Given the description of an element on the screen output the (x, y) to click on. 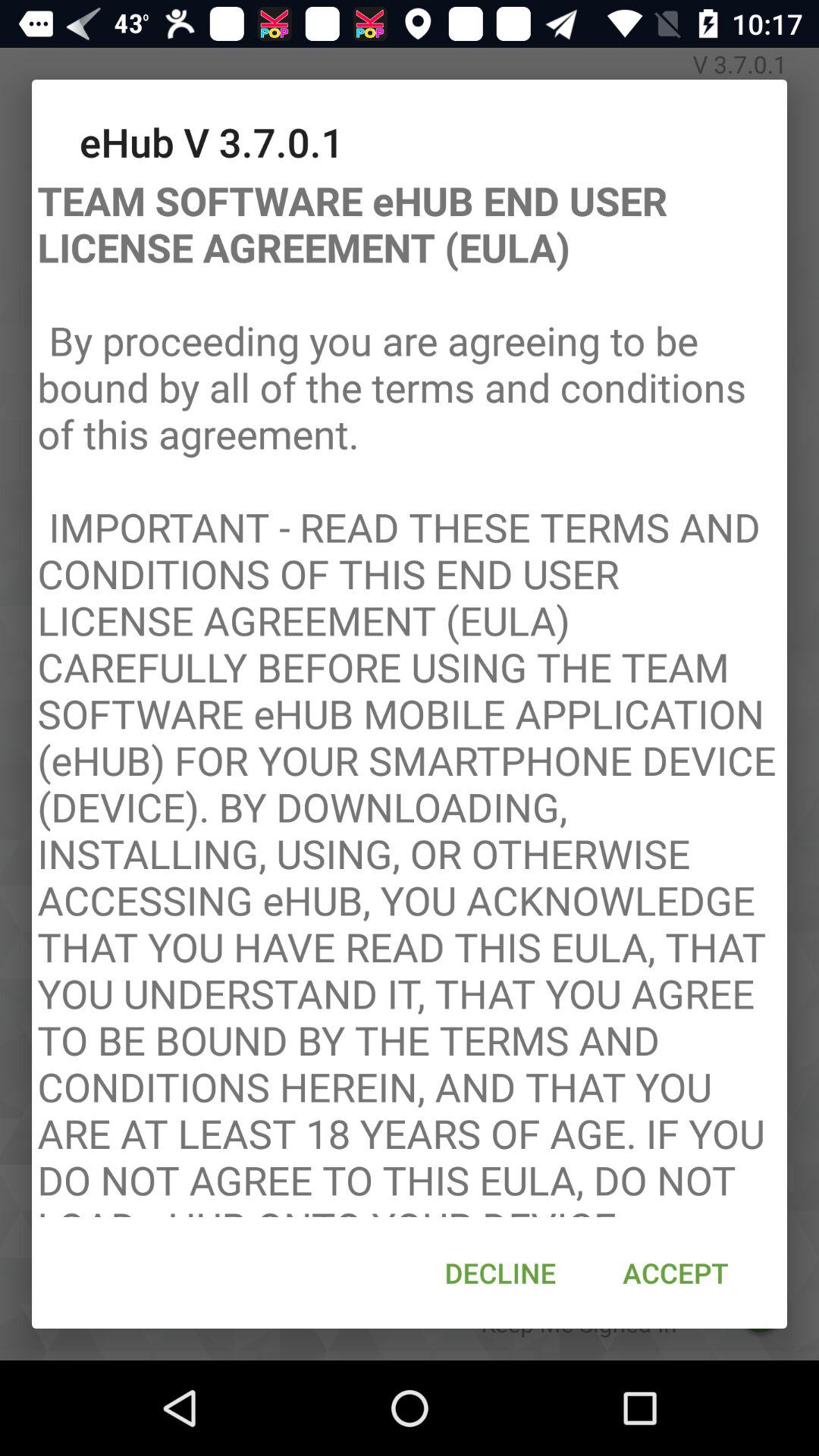
tap the item to the left of accept icon (500, 1272)
